Given the description of an element on the screen output the (x, y) to click on. 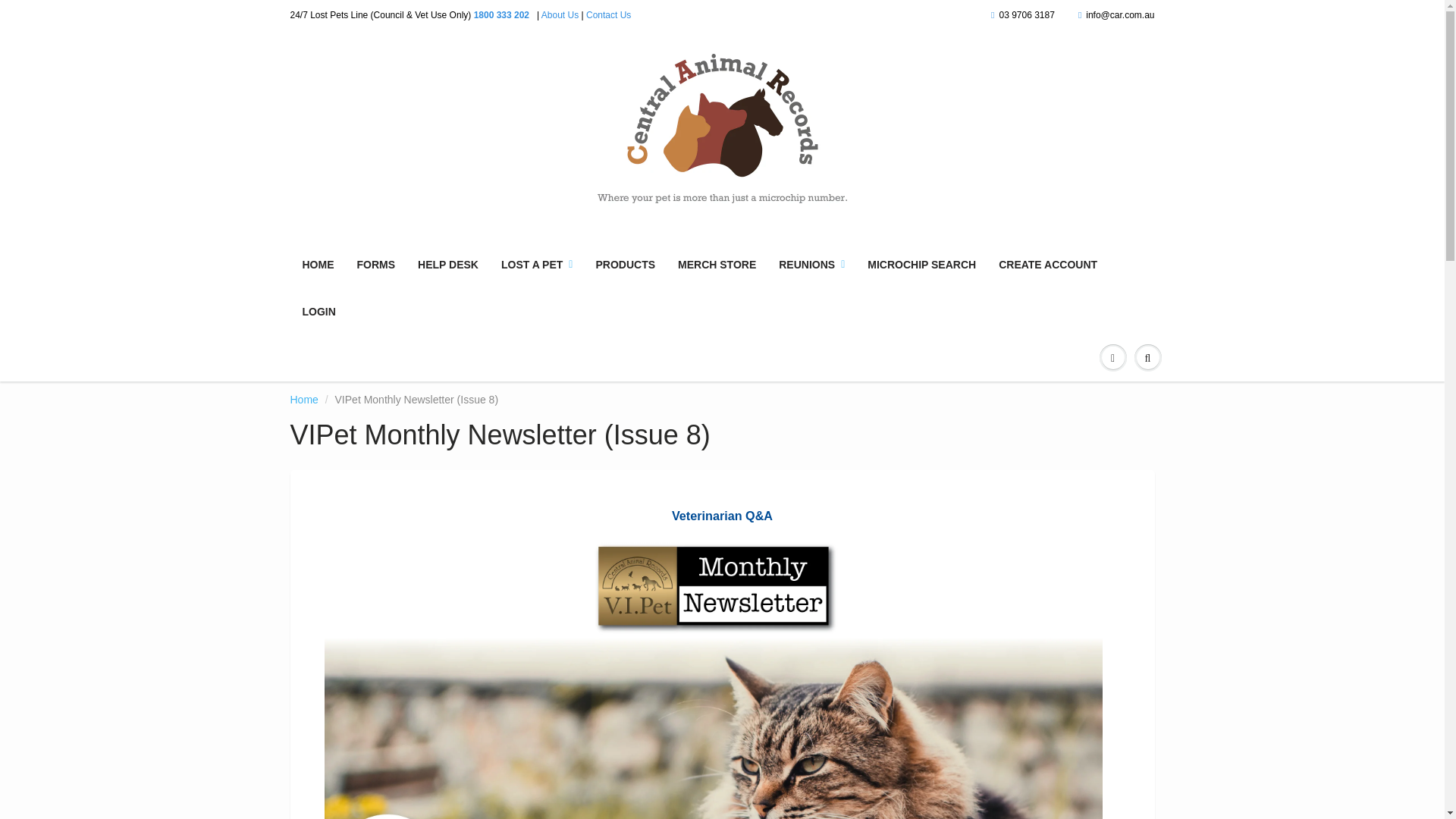
Contact Us (608, 14)
CREATE ACCOUNT (1047, 264)
MERCH STORE (716, 264)
Home (303, 399)
HELP DESK (447, 264)
About Us (559, 14)
Contact Us (608, 14)
FORMS (376, 264)
LOGIN (319, 311)
About Us (559, 14)
